Given the description of an element on the screen output the (x, y) to click on. 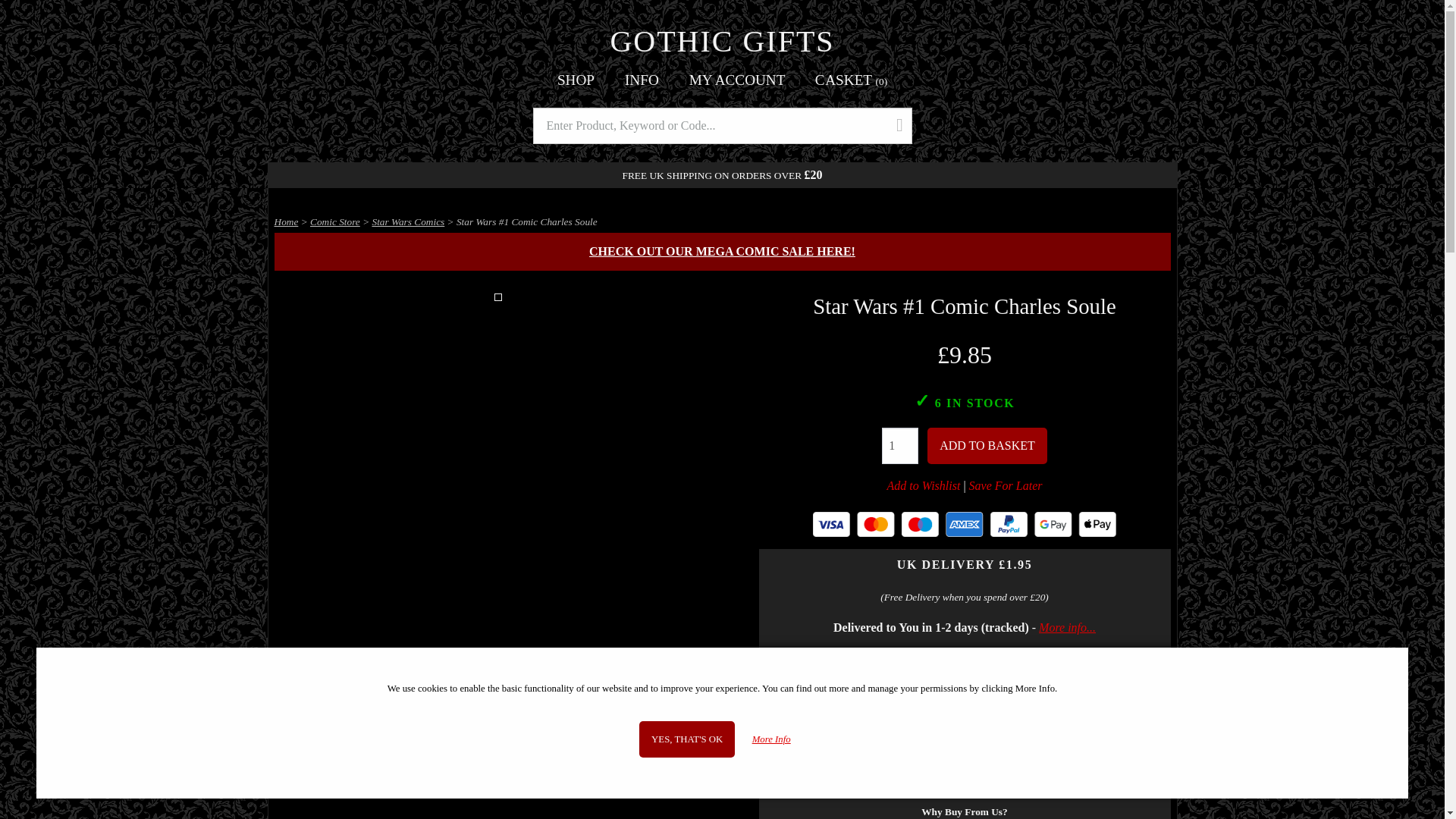
GOTHIC GIFTS (722, 41)
SHOP (575, 80)
1 (900, 445)
